Given the description of an element on the screen output the (x, y) to click on. 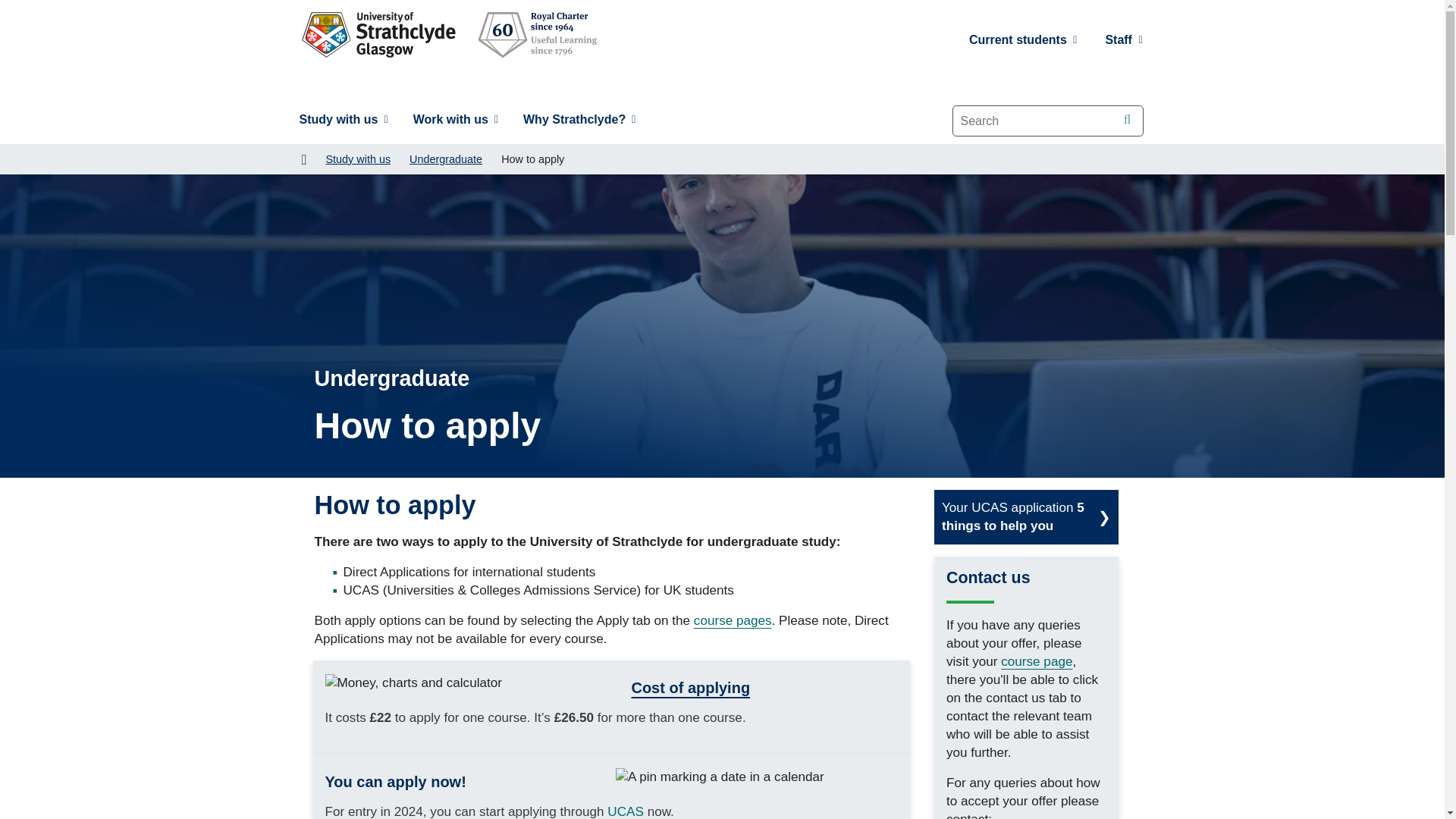
Work with us (454, 119)
Money, charts and calculator (412, 683)
Current students (1024, 39)
Study with us (343, 119)
Why Strathclyde? (579, 119)
A pin marking a date in a calendar (719, 777)
